Given the description of an element on the screen output the (x, y) to click on. 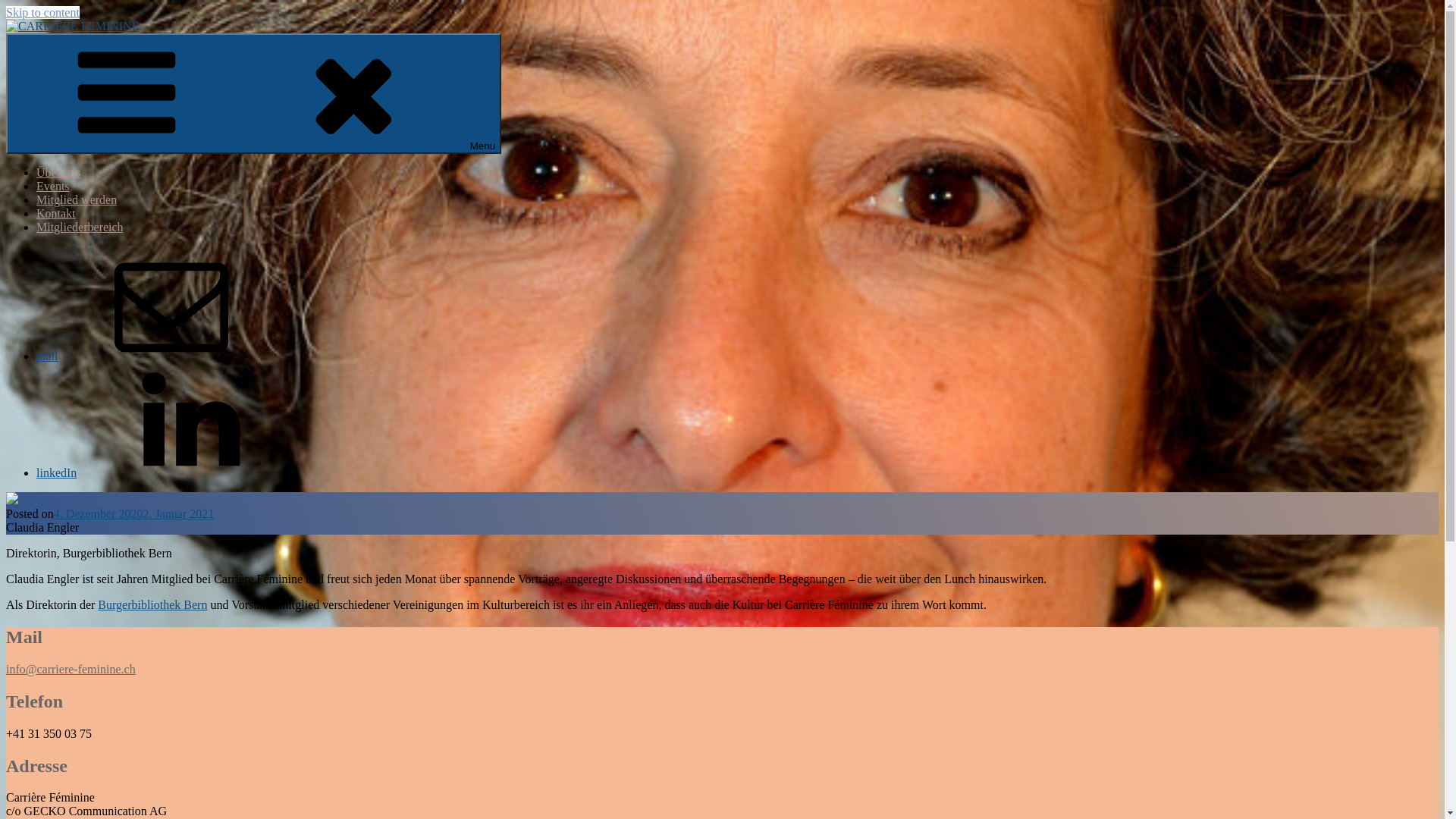
Mitgliederbereich Element type: text (79, 226)
Kontakt Element type: text (55, 213)
Mitglied werden Element type: text (76, 199)
4. Dezember 20202. Januar 2021 Element type: text (133, 513)
CARRIERE FEMININE Element type: text (66, 51)
mail Element type: text (160, 355)
Burgerbibliothek Bern Element type: text (152, 604)
Skip to content Element type: text (42, 12)
info@carriere-feminine.ch Element type: text (70, 668)
Events Element type: text (52, 185)
linkedIn Element type: text (170, 472)
Menu Element type: text (253, 93)
